Given the description of an element on the screen output the (x, y) to click on. 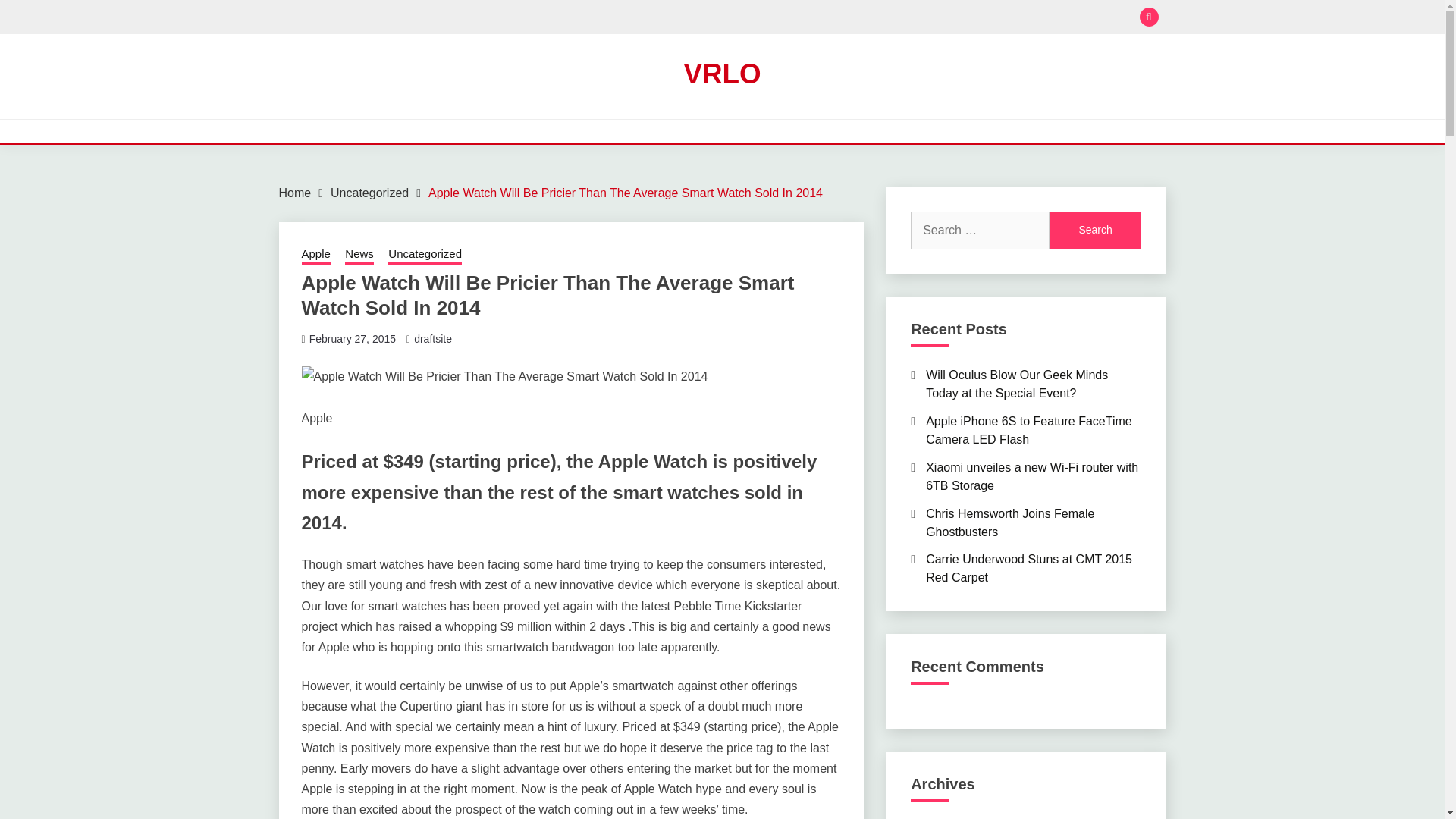
Uncategorized (424, 255)
Apple (315, 255)
Home (295, 192)
February 27, 2015 (352, 338)
VRLO (721, 73)
Search (832, 18)
News (359, 255)
Search (1095, 230)
Search (1095, 230)
